Given the description of an element on the screen output the (x, y) to click on. 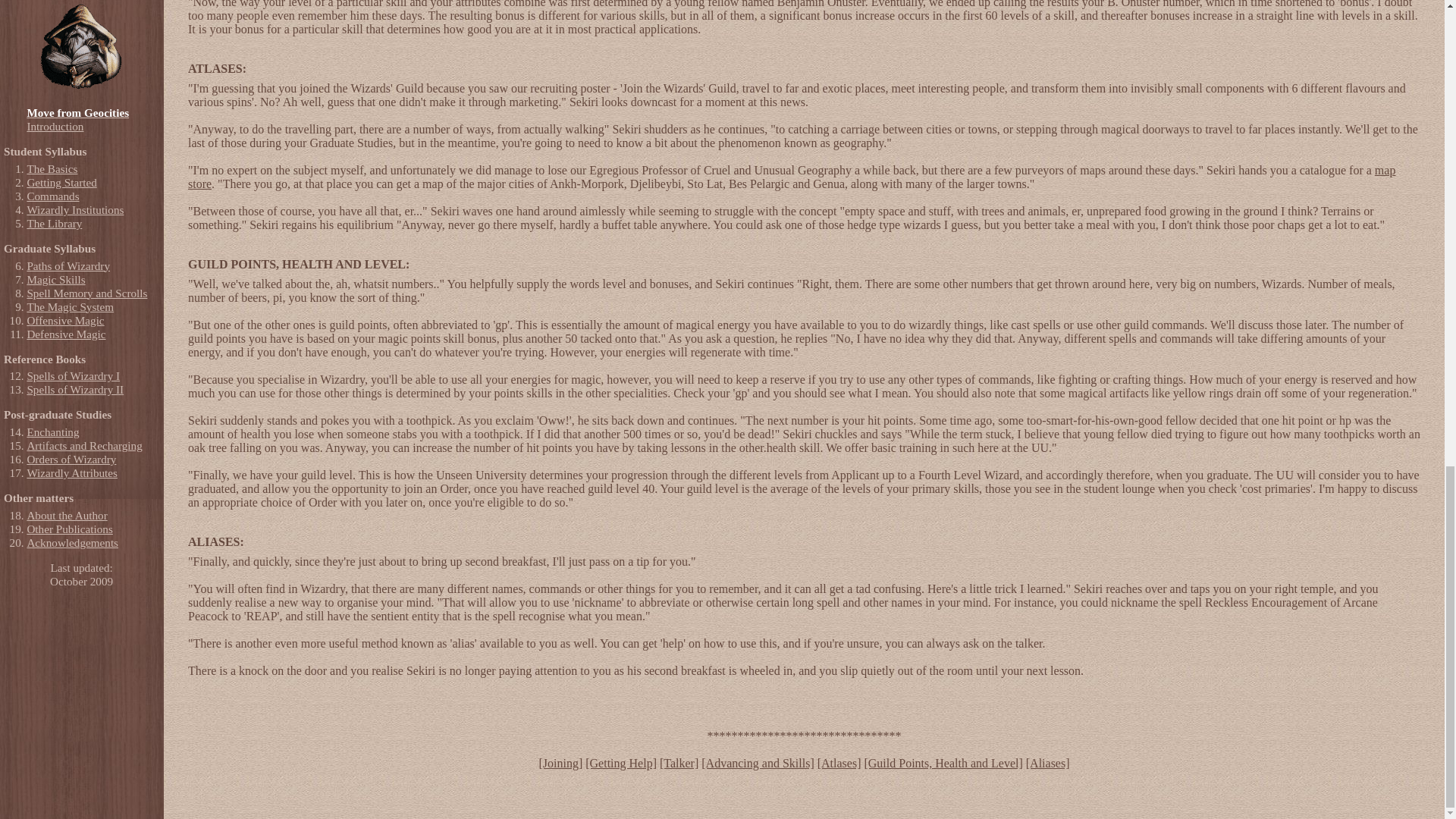
ATLASES: (216, 68)
GUILD POINTS, HEALTH AND LEVEL: (298, 264)
map store (790, 176)
ALIASES: (215, 541)
